Given the description of an element on the screen output the (x, y) to click on. 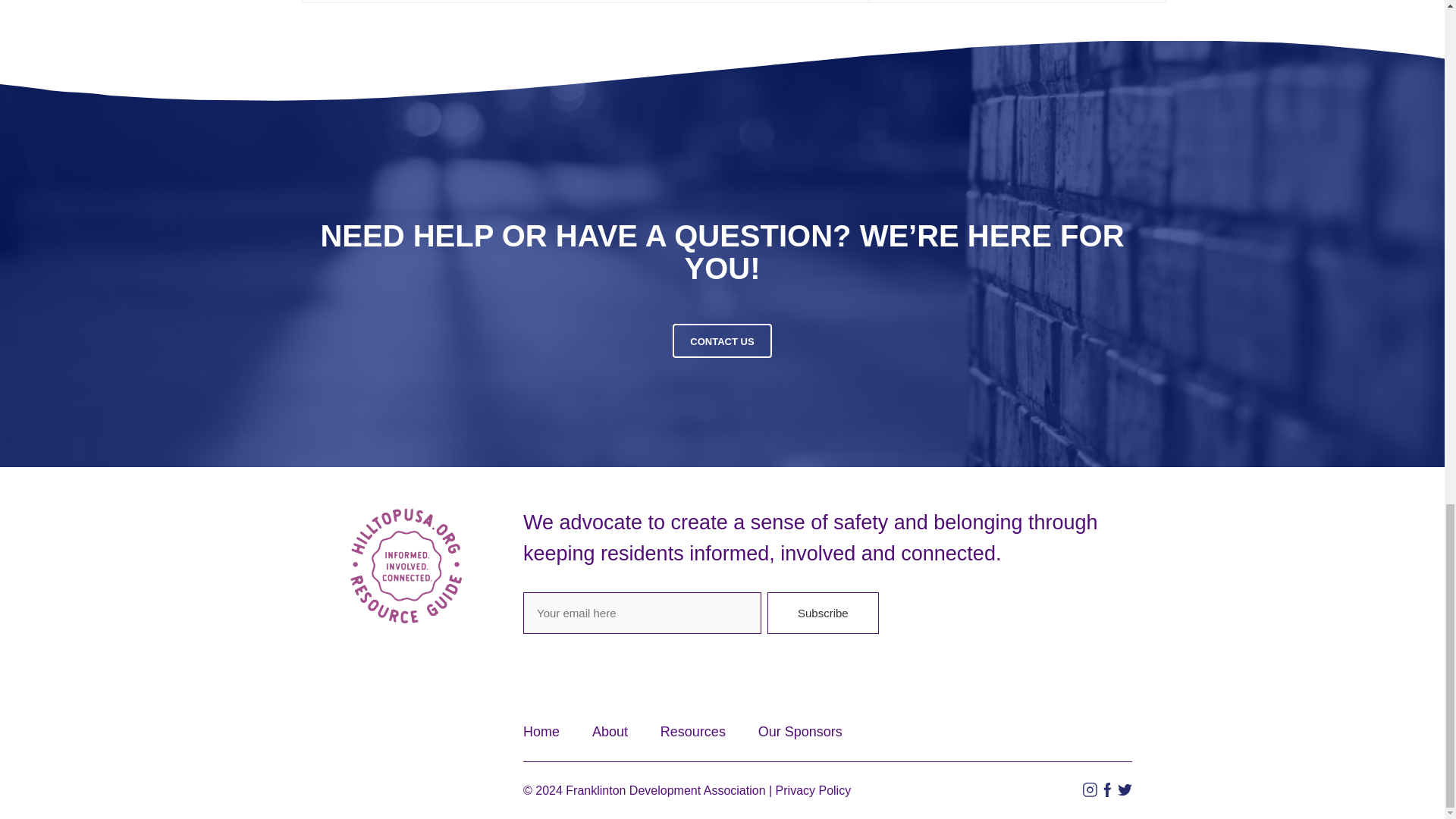
Subscribe (823, 612)
Home (540, 731)
Subscribe (823, 612)
CONTACT US (722, 340)
